Given the description of an element on the screen output the (x, y) to click on. 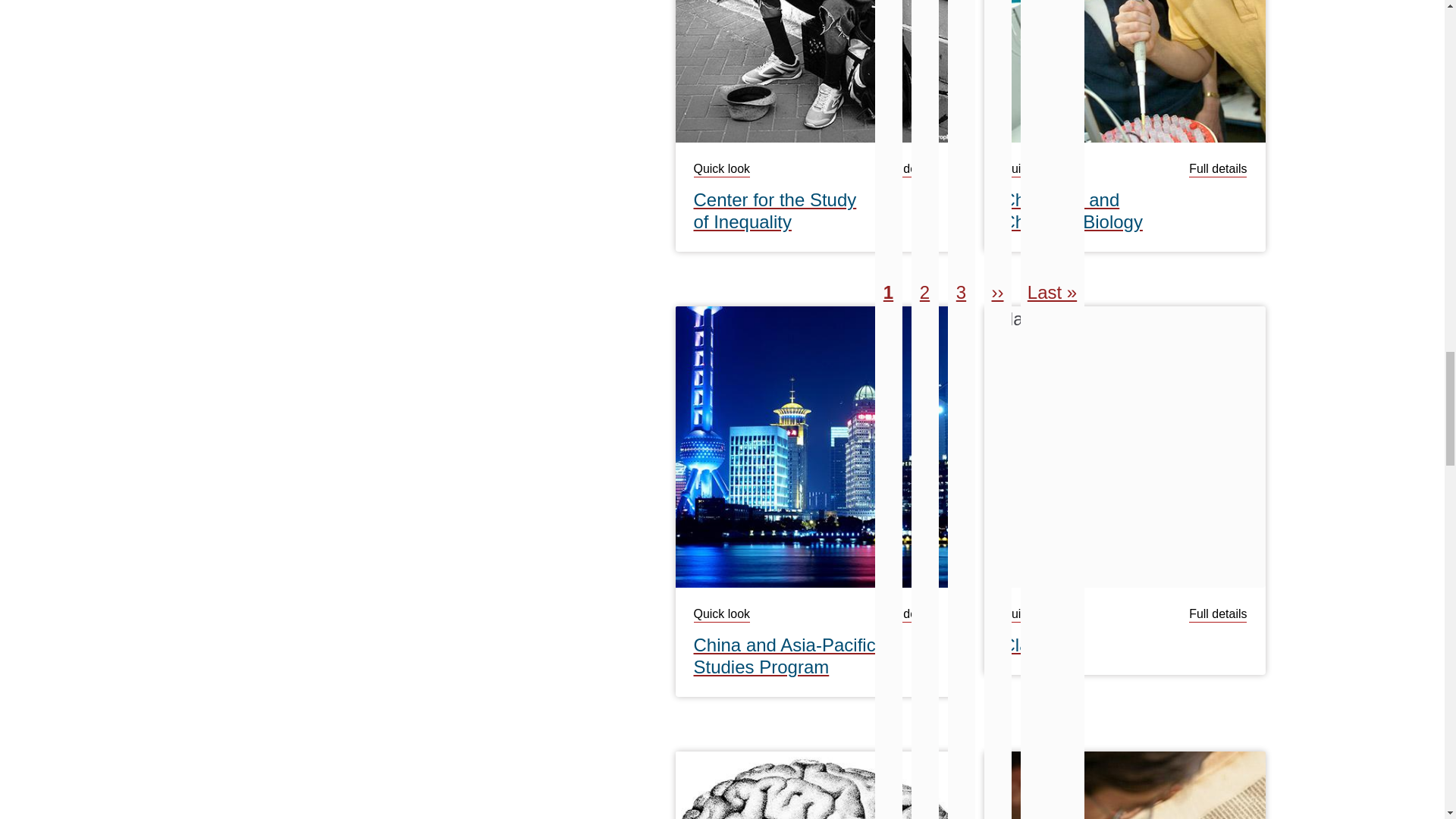
Go to last page (1052, 292)
